Given the description of an element on the screen output the (x, y) to click on. 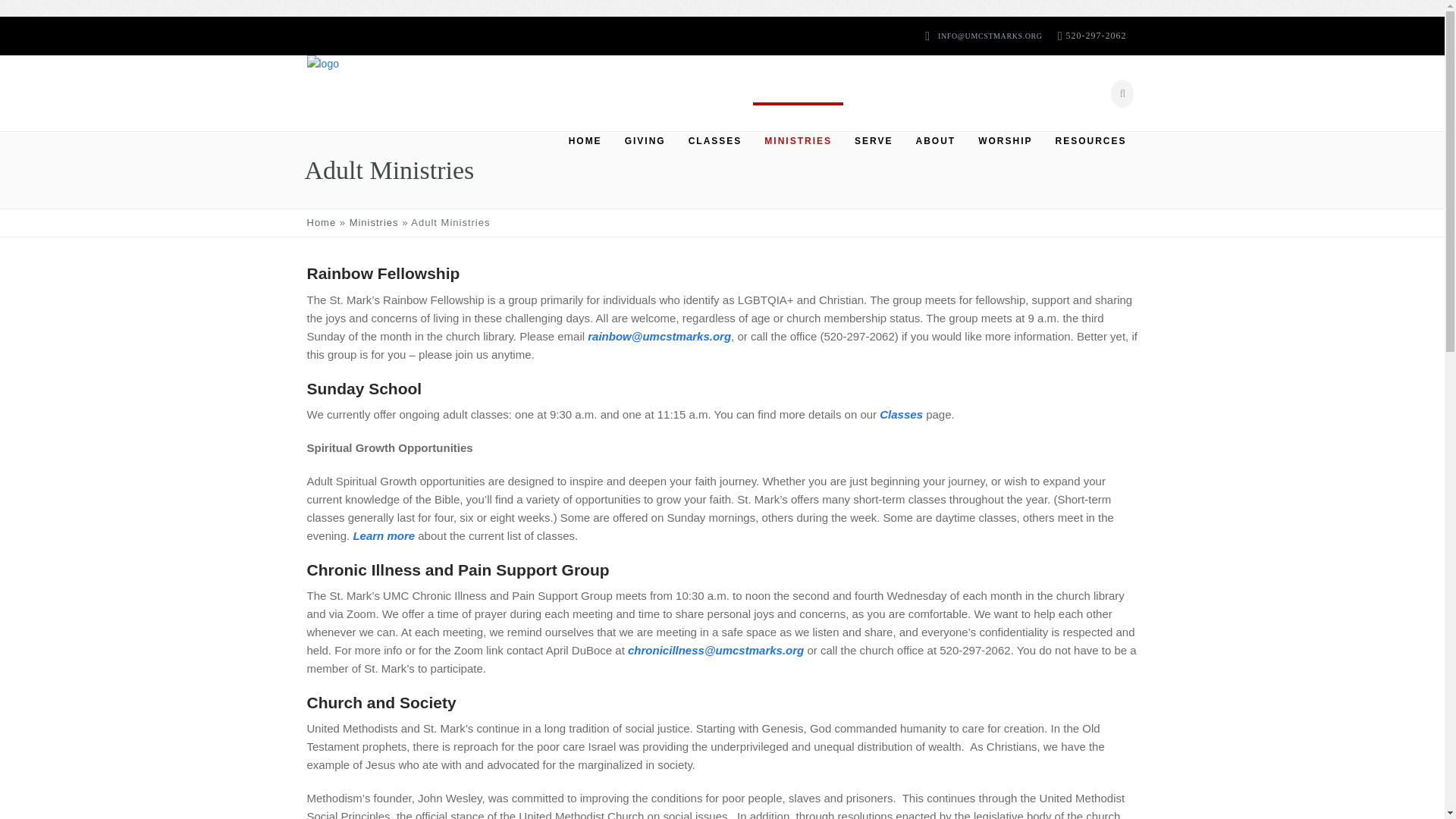
CLASSES (715, 141)
WORSHIP (1004, 141)
MINISTRIES (797, 141)
RESOURCES (1090, 141)
